Given the description of an element on the screen output the (x, y) to click on. 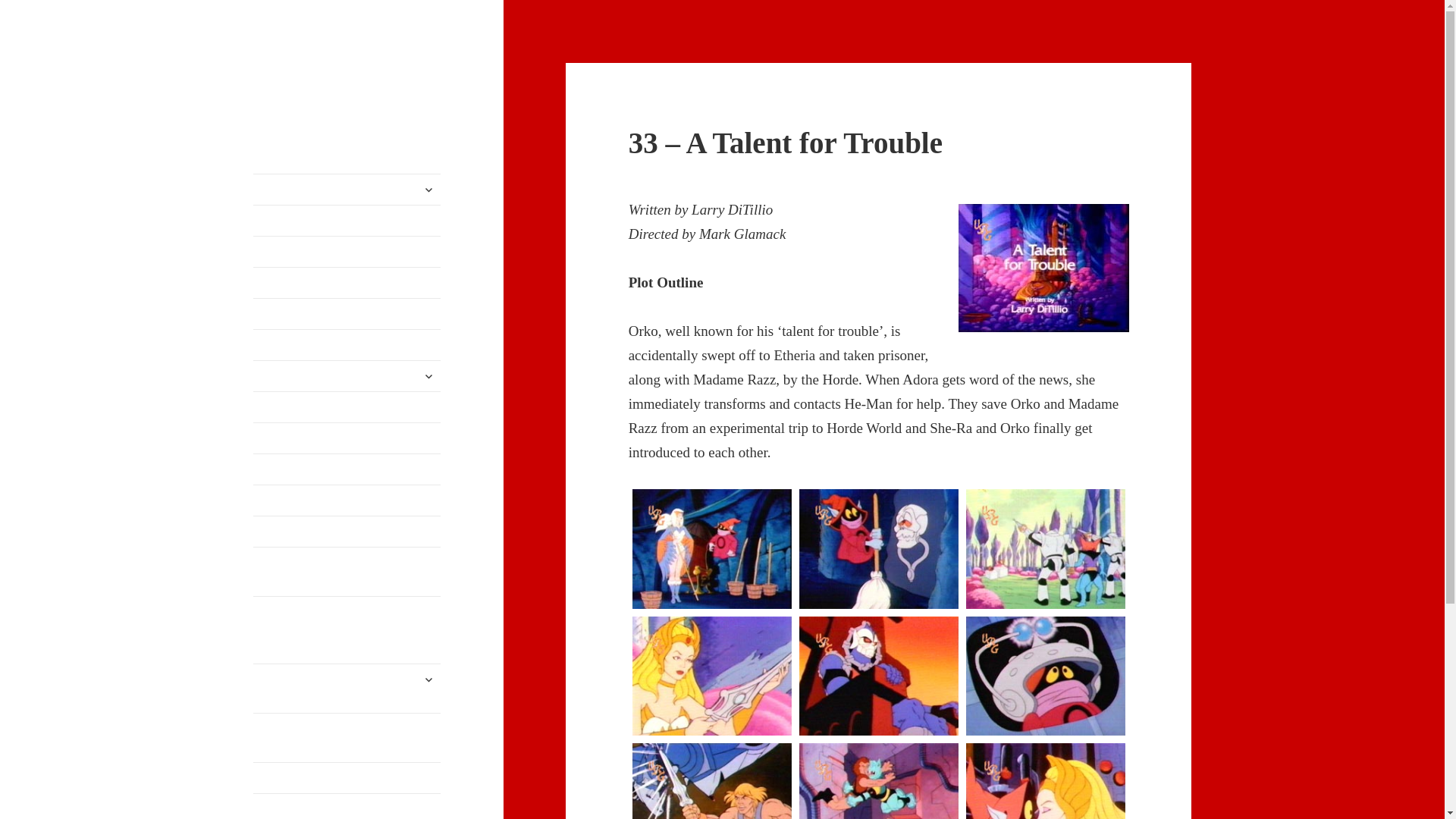
ep3301 (711, 548)
expand child menu (428, 189)
Darah's Tribute (327, 74)
Princess of Power (347, 189)
ep3306 (1045, 676)
ep3303 (1045, 548)
ep3305 (878, 676)
ep3304 (711, 676)
ep3308 (878, 780)
ep3302 (878, 548)
